Given the description of an element on the screen output the (x, y) to click on. 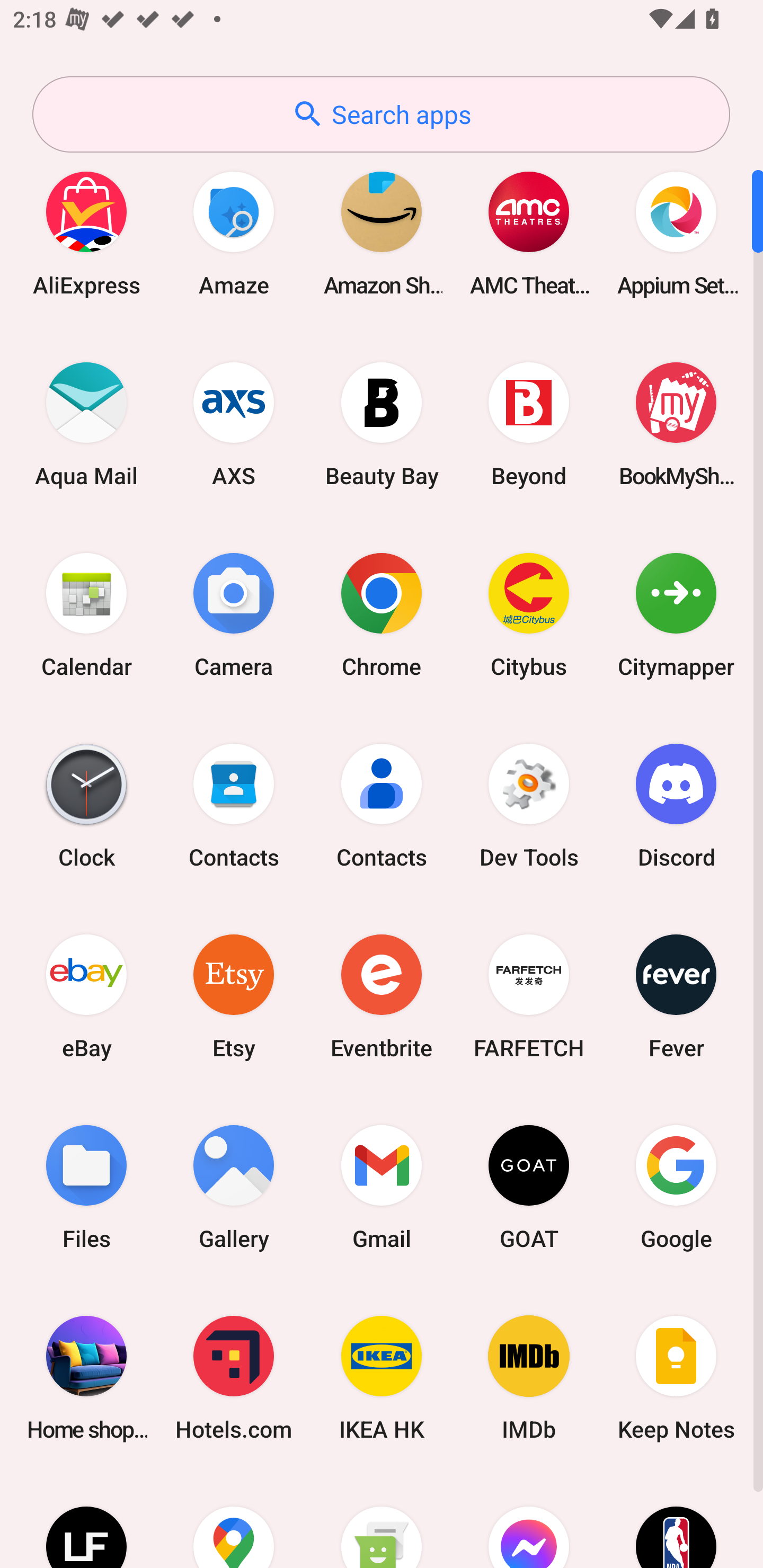
Citymapper (676, 614)
